Given the description of an element on the screen output the (x, y) to click on. 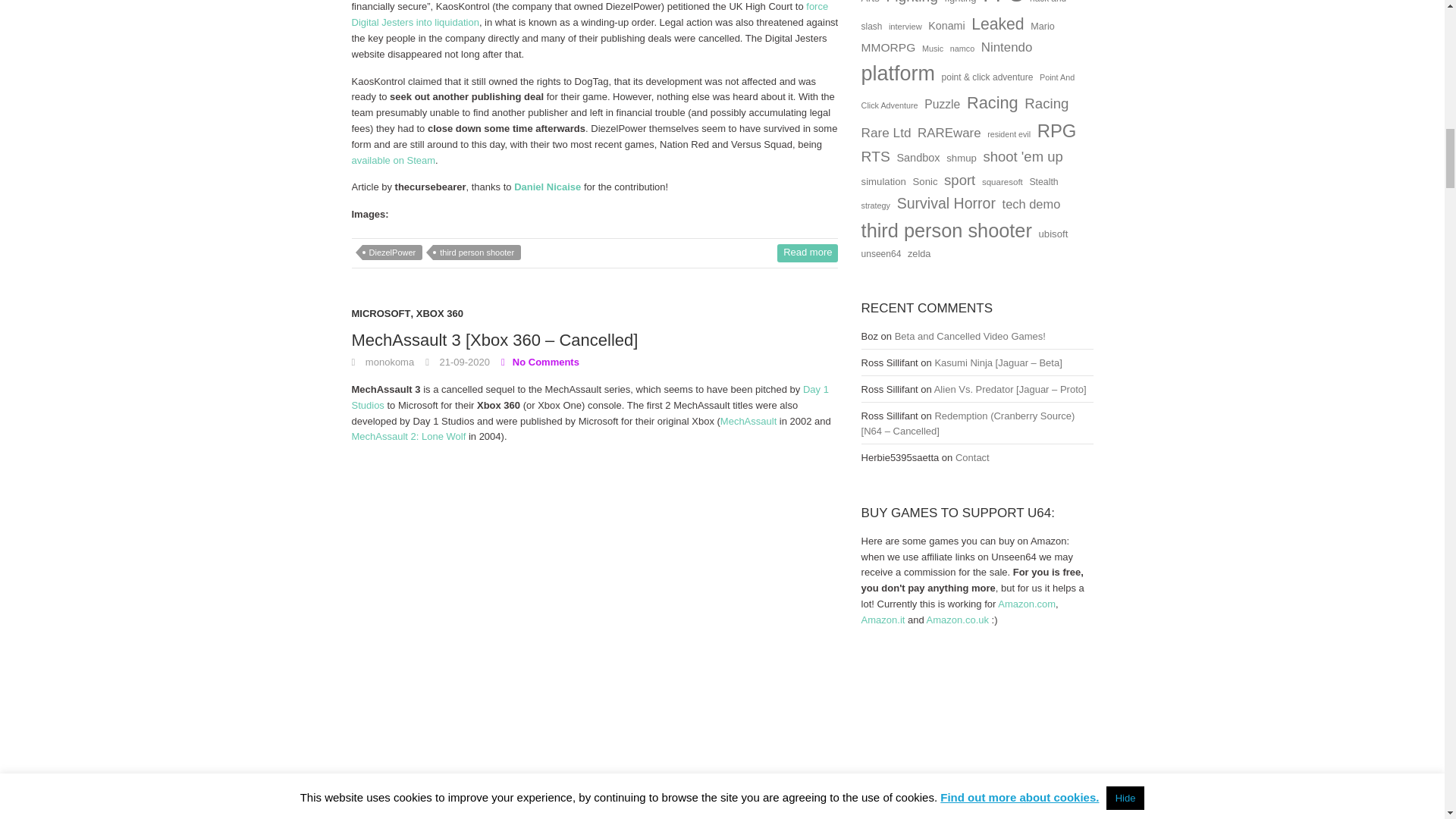
22:39 (457, 361)
force Digital Jesters into liquidation (590, 13)
Daniel Nicaise (546, 186)
DiezelPower (392, 252)
available on Steam (393, 160)
